Given the description of an element on the screen output the (x, y) to click on. 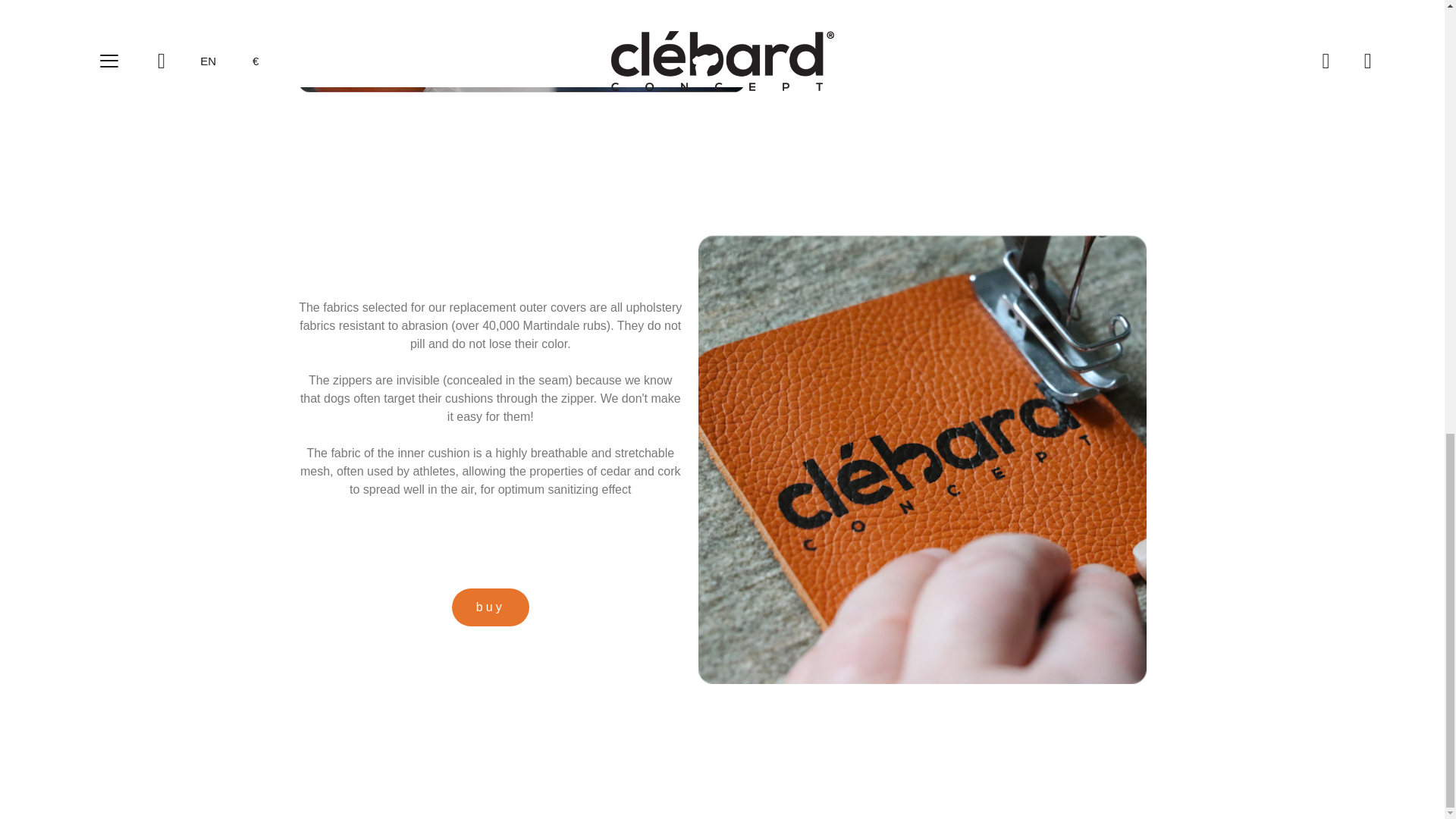
buy (490, 607)
